Given the description of an element on the screen output the (x, y) to click on. 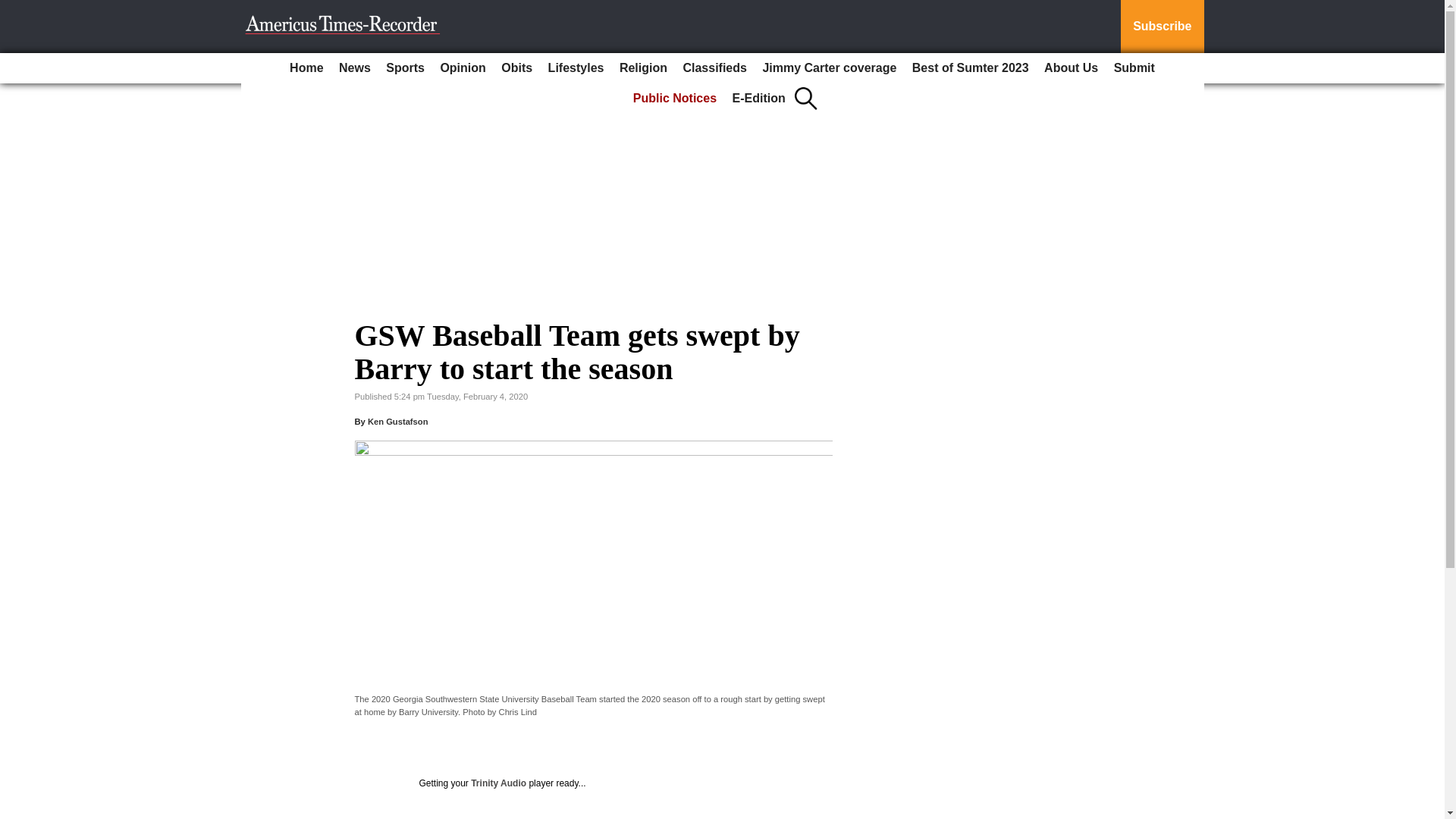
Religion (642, 68)
Jimmy Carter coverage (828, 68)
E-Edition (759, 98)
Obits (516, 68)
Subscribe (1162, 26)
Public Notices (674, 98)
Home (306, 68)
Lifestyles (575, 68)
Trinity Audio (497, 783)
News (355, 68)
